Given the description of an element on the screen output the (x, y) to click on. 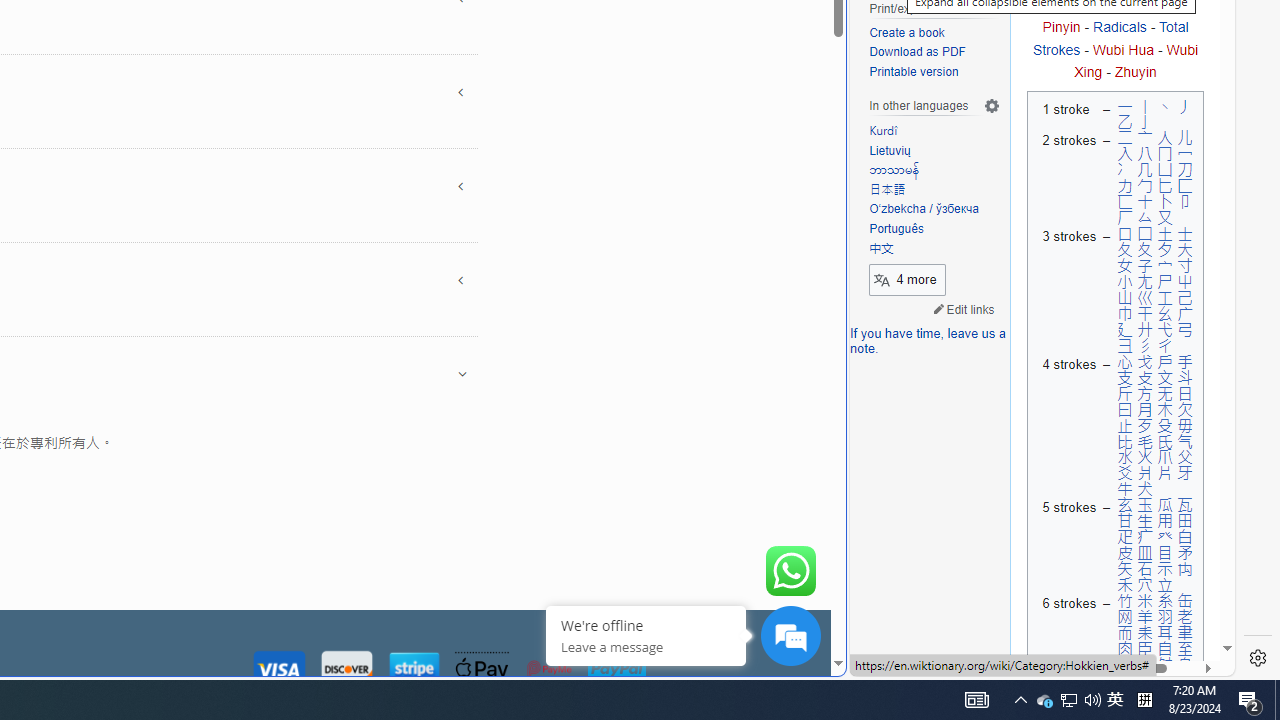
Total Strokes (1110, 38)
